Given the description of an element on the screen output the (x, y) to click on. 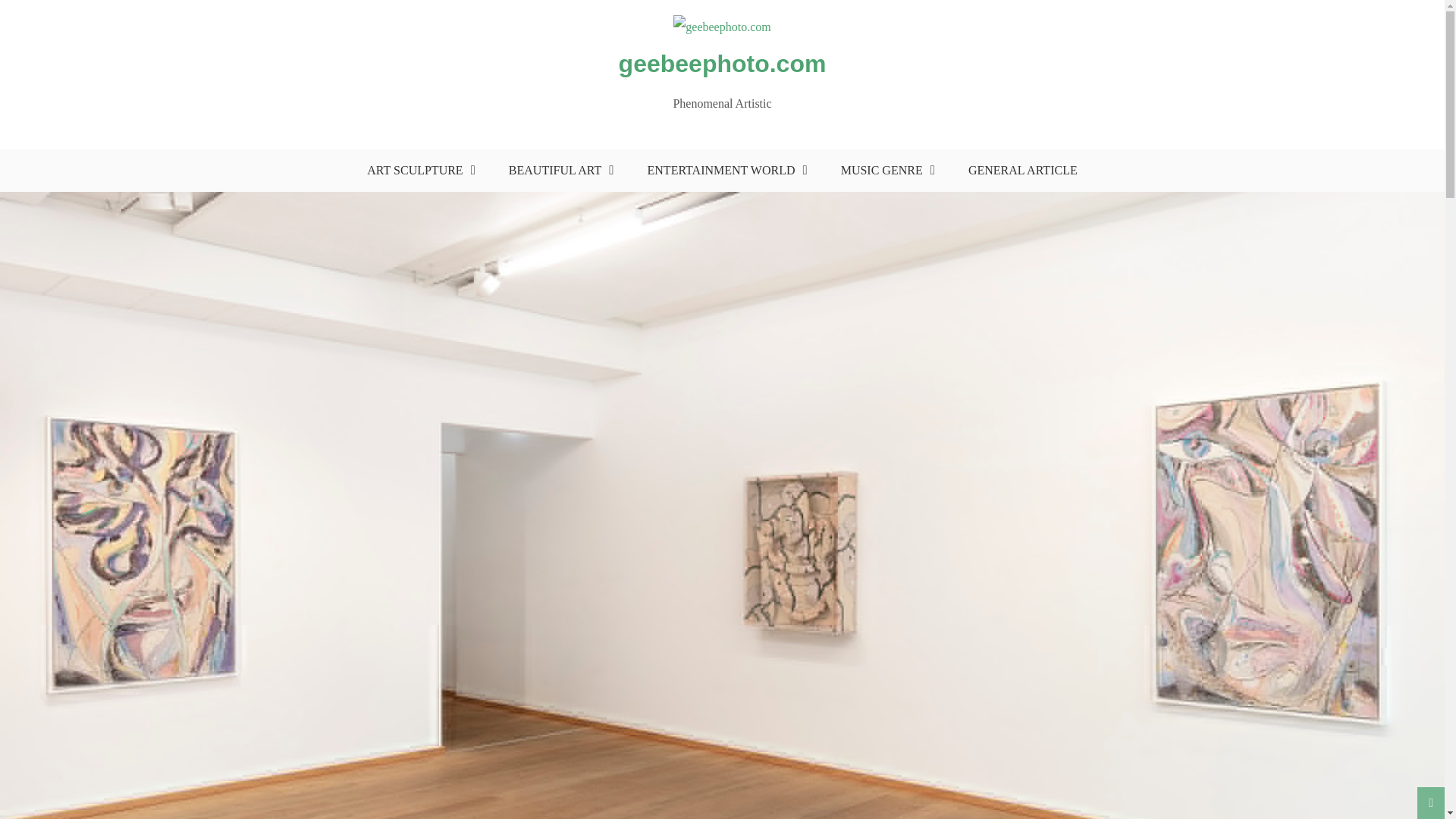
GENERAL ARTICLE (1022, 169)
ENTERTAINMENT WORLD (723, 170)
MUSIC GENRE (884, 170)
BEAUTIFUL ART (557, 170)
ART SCULPTURE (417, 170)
geebeephoto.com (722, 62)
